Given the description of an element on the screen output the (x, y) to click on. 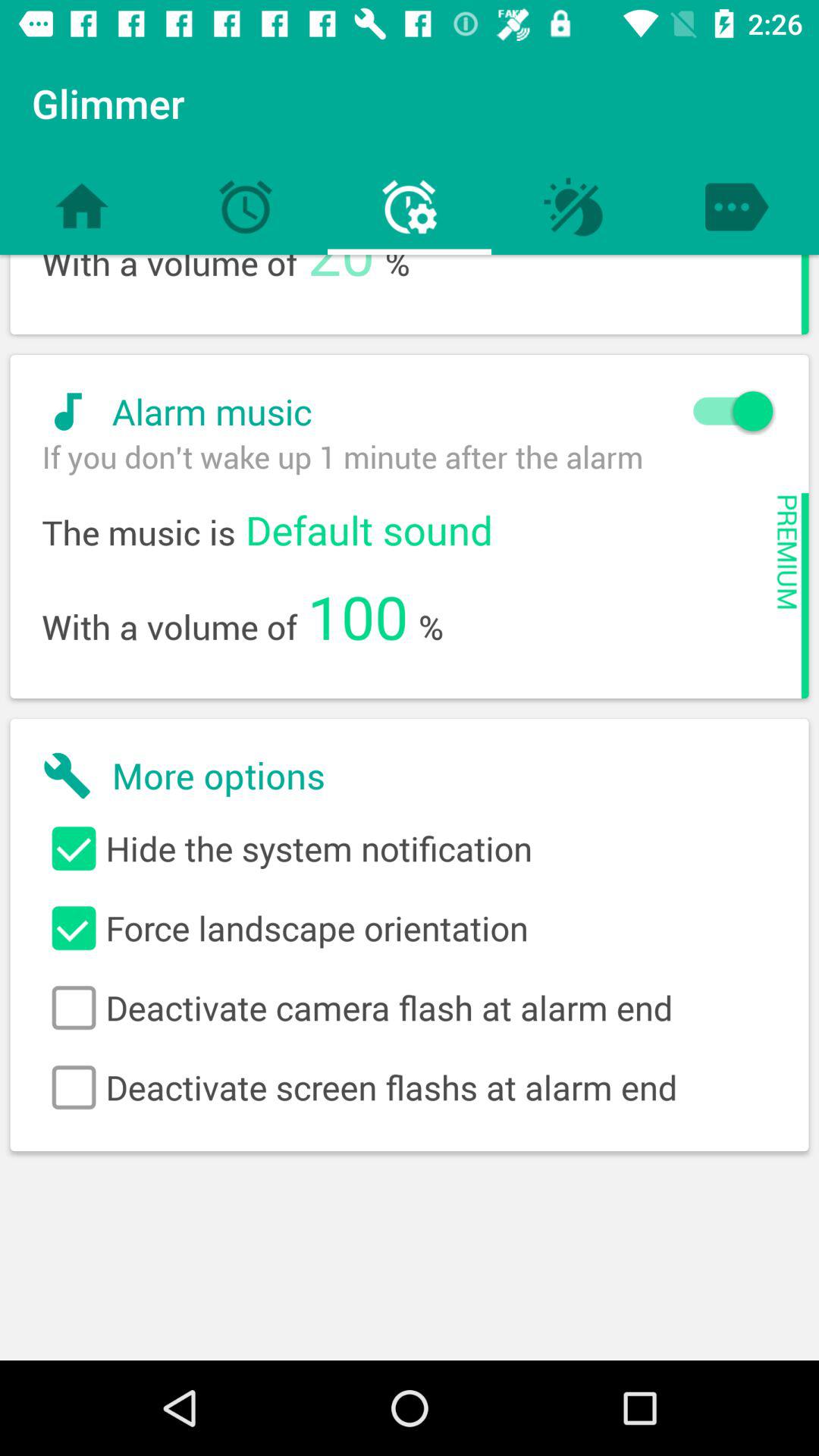
flip until deactivate camera flash icon (409, 1007)
